Given the description of an element on the screen output the (x, y) to click on. 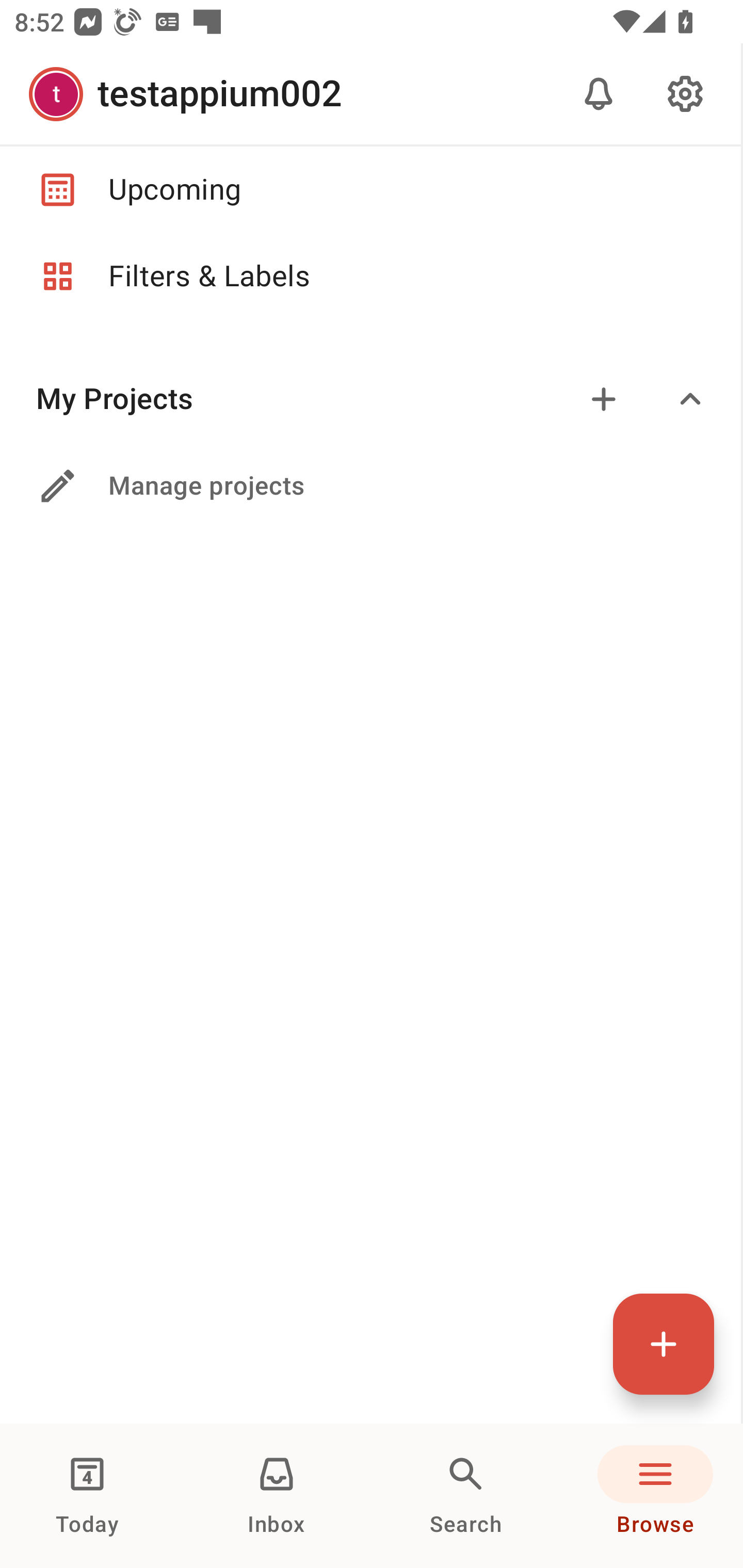
Notifications (598, 93)
Settings (684, 93)
Upcoming (370, 189)
Filters & Labels (370, 276)
My Projects Add Expand/collapse (370, 398)
Add (603, 398)
Expand/collapse (690, 398)
Manage projects (370, 485)
Quick add (663, 1343)
Today (87, 1495)
Inbox (276, 1495)
Search (465, 1495)
